Given the description of an element on the screen output the (x, y) to click on. 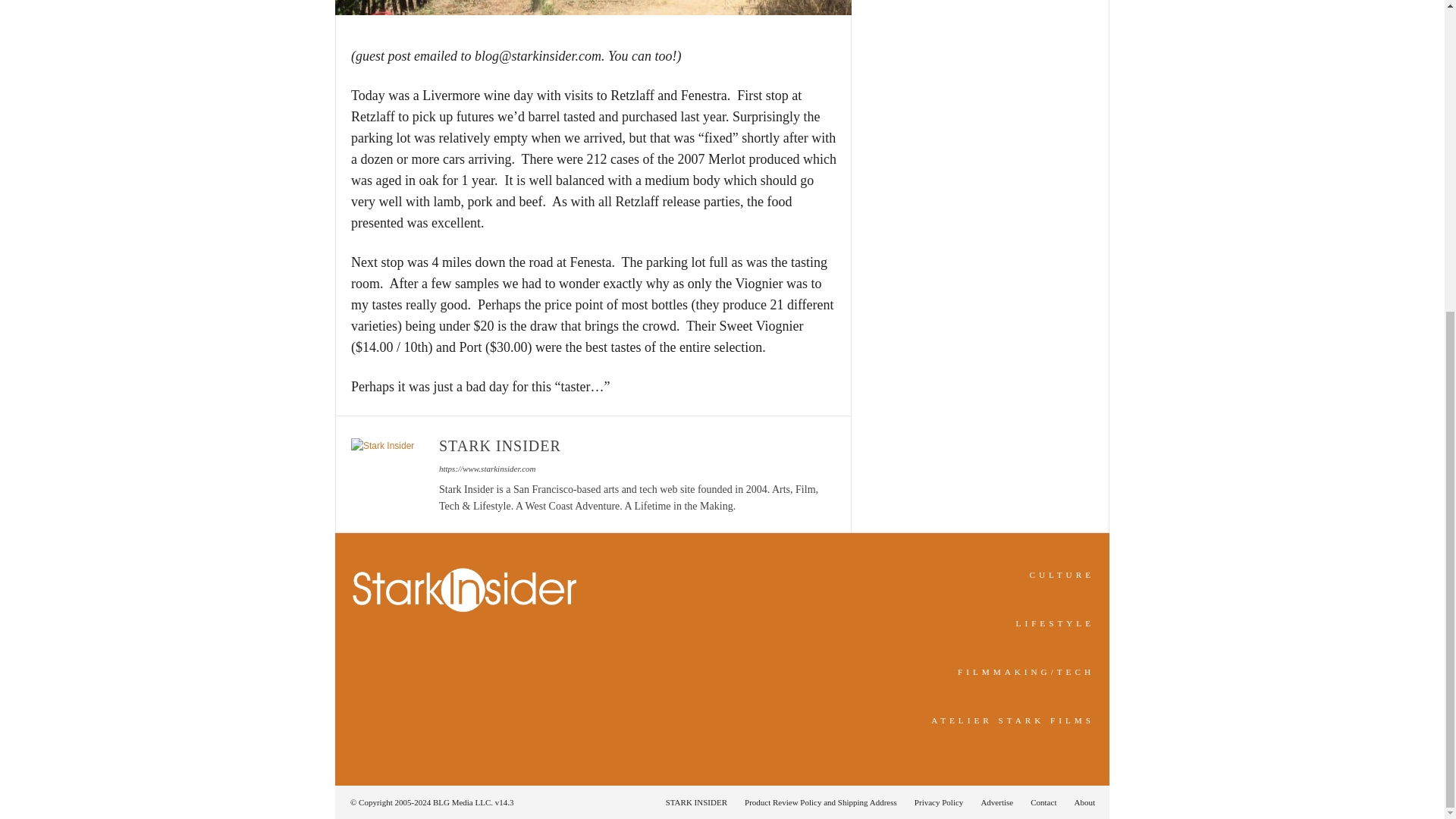
About (1079, 801)
Livermore Valley, California (592, 7)
Contact (1043, 801)
LIFESTYLE (1055, 623)
STARK INSIDER (499, 445)
Advertise (996, 801)
STARK INSIDER (696, 801)
ATELIER STARK FILMS (1012, 719)
Product Review Policy and Shipping Address (820, 801)
CULTURE (1061, 574)
Privacy Policy (939, 801)
